Given the description of an element on the screen output the (x, y) to click on. 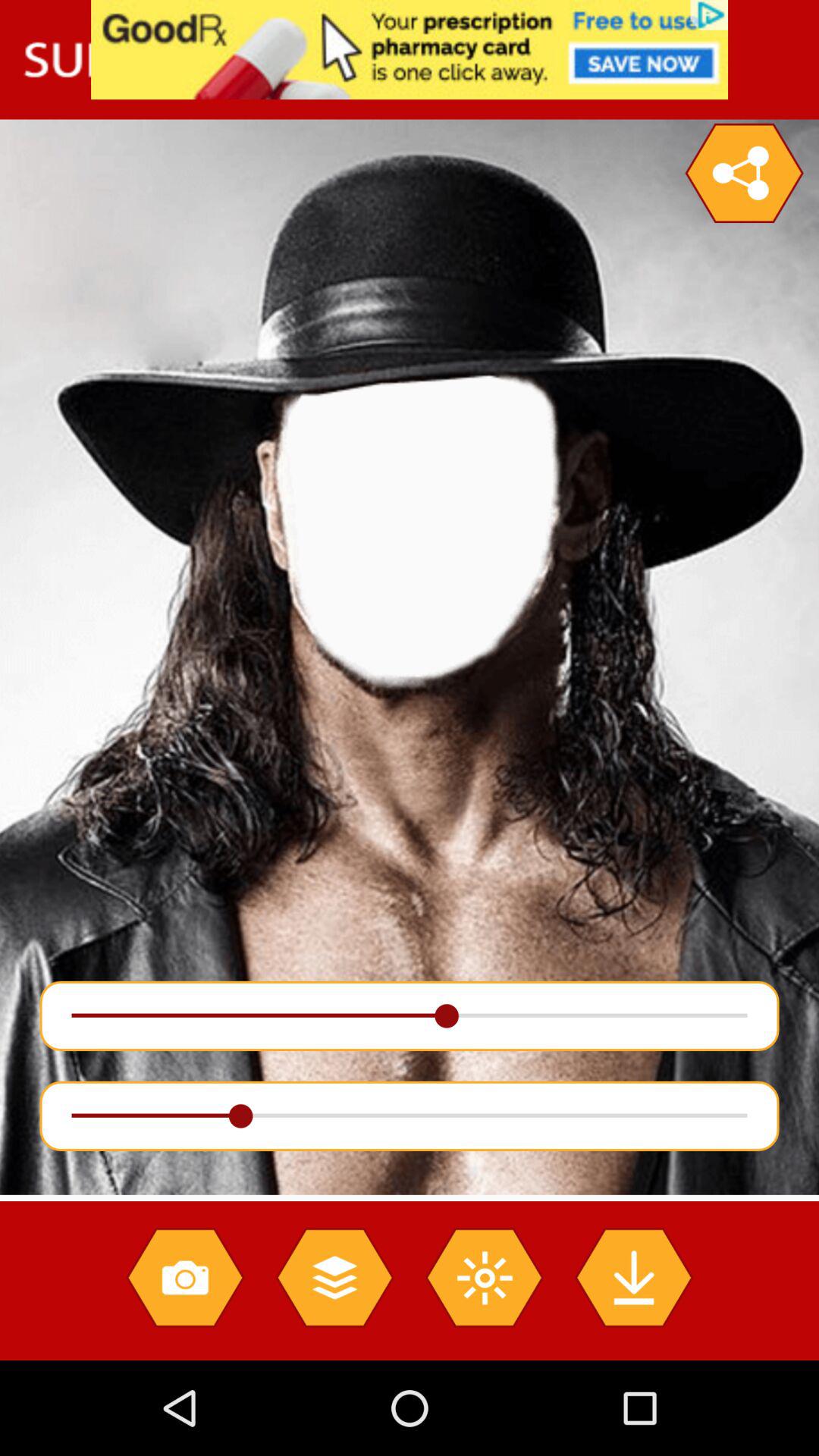
see advertisement (409, 49)
